Given the description of an element on the screen output the (x, y) to click on. 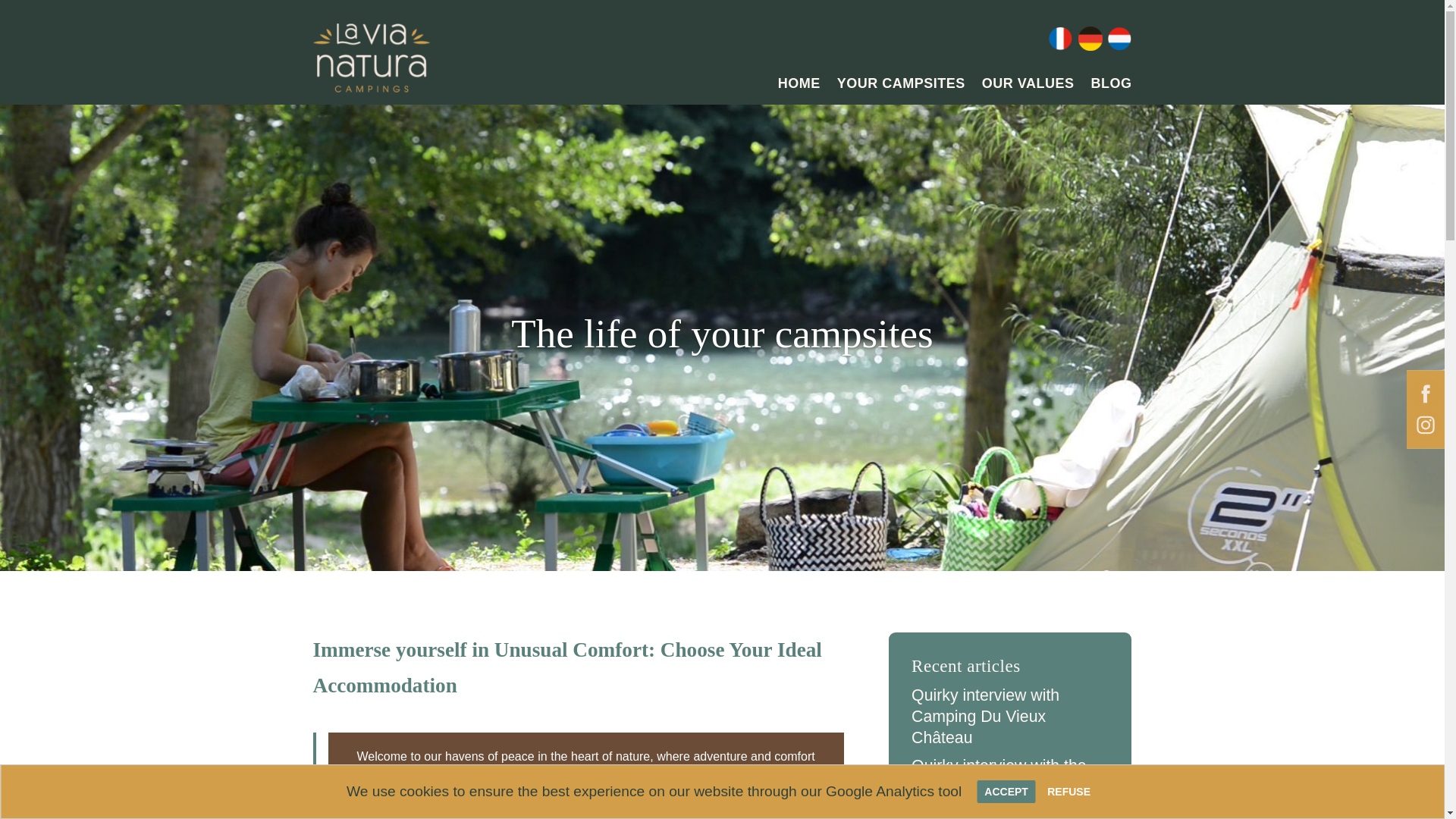
ACCEPT (1005, 791)
OUR VALUES (1027, 86)
REFUSE (1068, 791)
picto-fb-orange (1425, 393)
picto-insta-orange (1425, 425)
HOME (799, 86)
YOUR CAMPSITES (901, 86)
BLOG (1110, 86)
La Via Natura (371, 57)
Quirky interview with the campsite: La Cascade (998, 776)
